Given the description of an element on the screen output the (x, y) to click on. 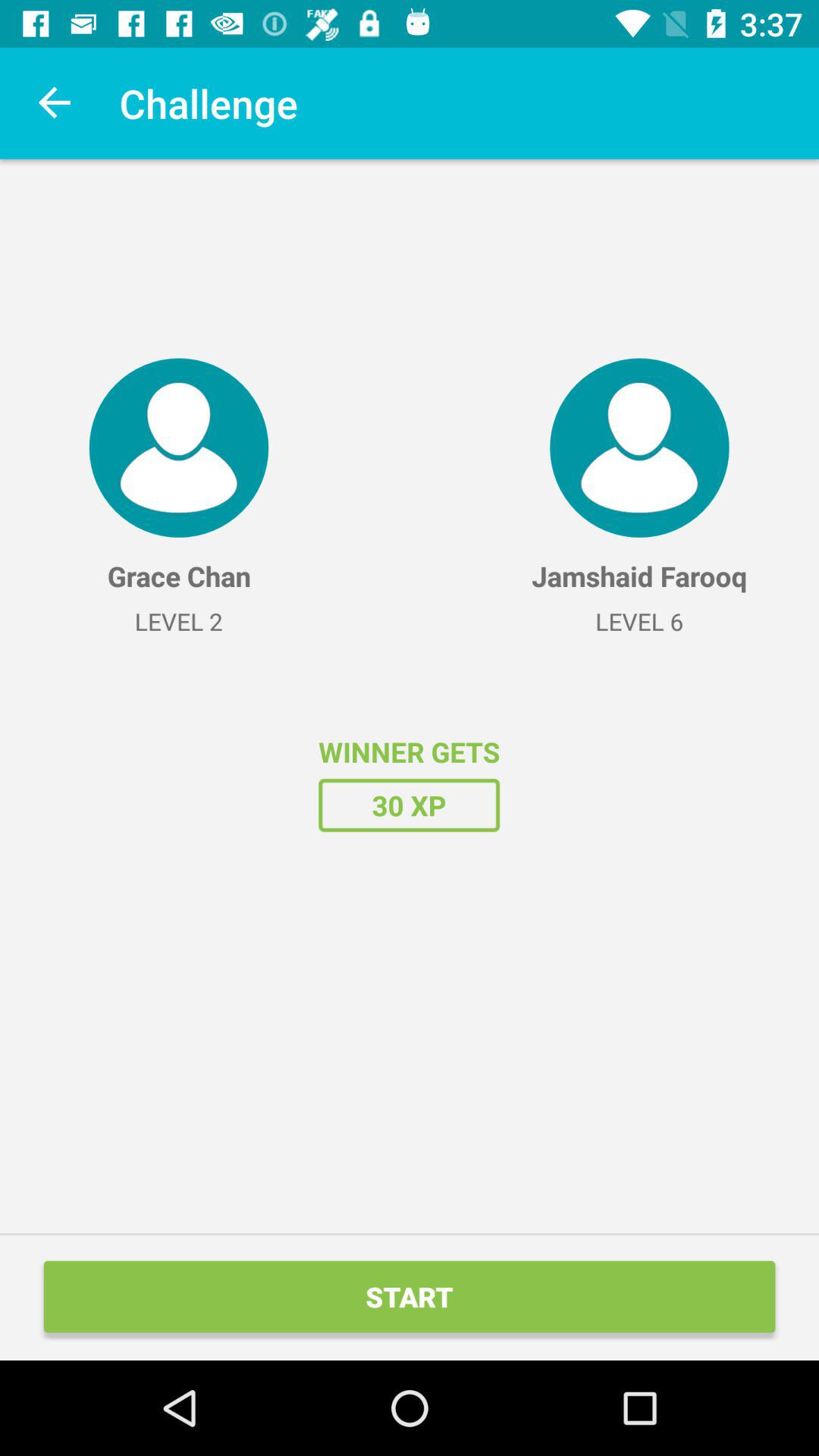
open the item above the grace chan (178, 447)
